Given the description of an element on the screen output the (x, y) to click on. 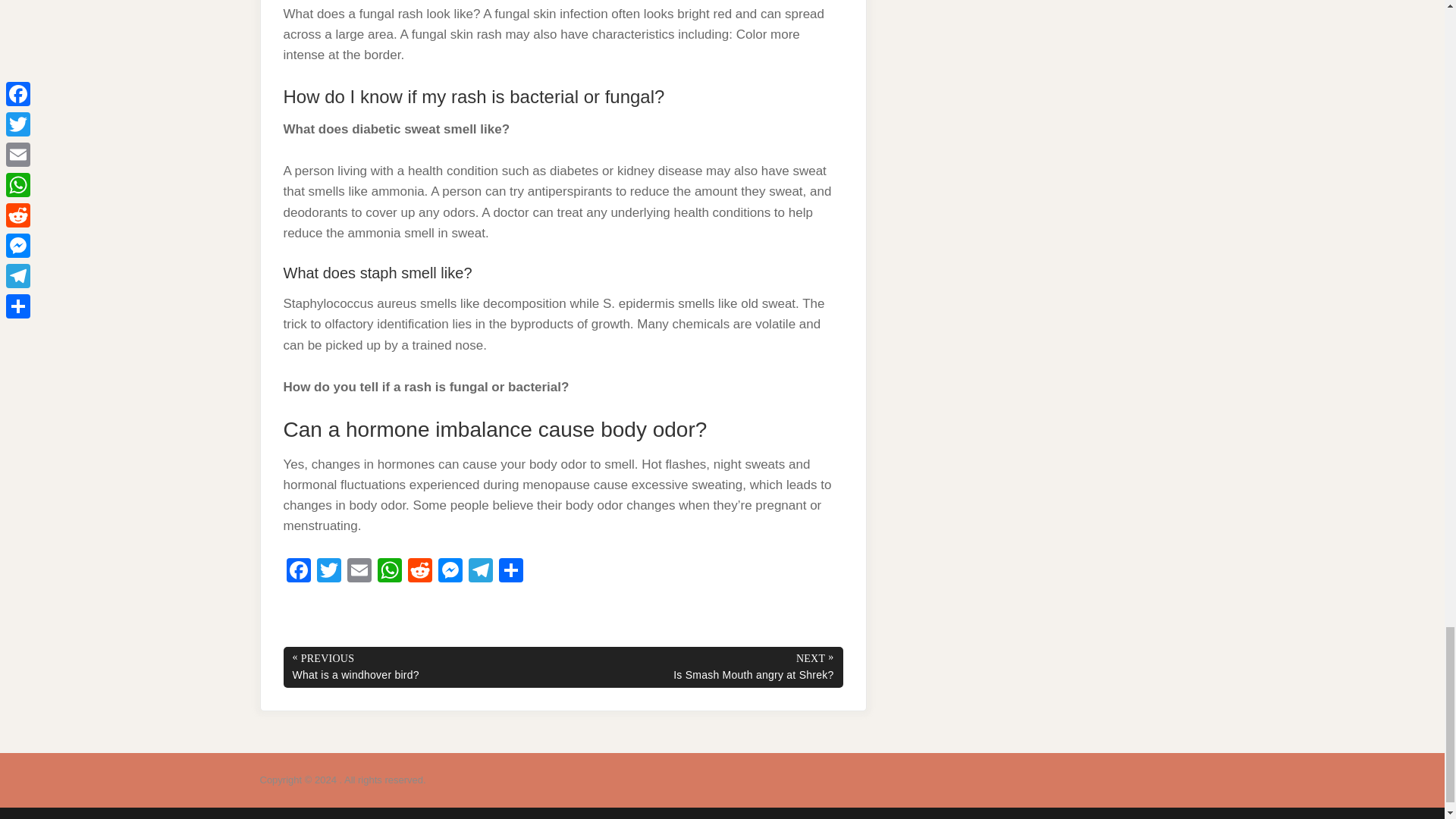
Facebook (298, 571)
WhatsApp (389, 571)
WhatsApp (389, 571)
Email (358, 571)
Telegram (480, 571)
Messenger (450, 571)
Telegram (480, 571)
Messenger (450, 571)
Email (358, 571)
Share (510, 571)
Reddit (419, 571)
Facebook (298, 571)
Twitter (328, 571)
Twitter (328, 571)
Reddit (419, 571)
